Given the description of an element on the screen output the (x, y) to click on. 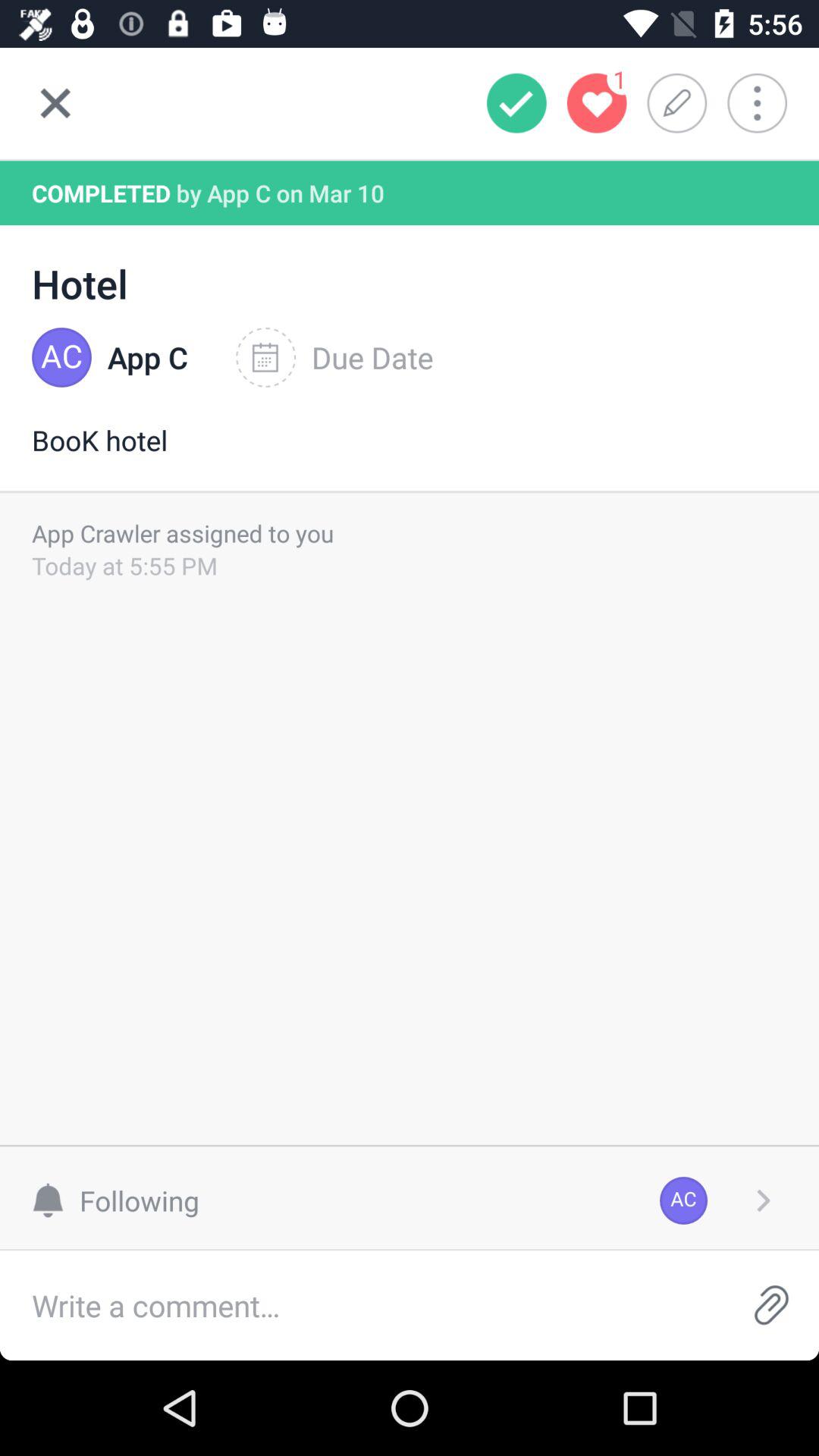
scroll until the due date item (334, 357)
